Given the description of an element on the screen output the (x, y) to click on. 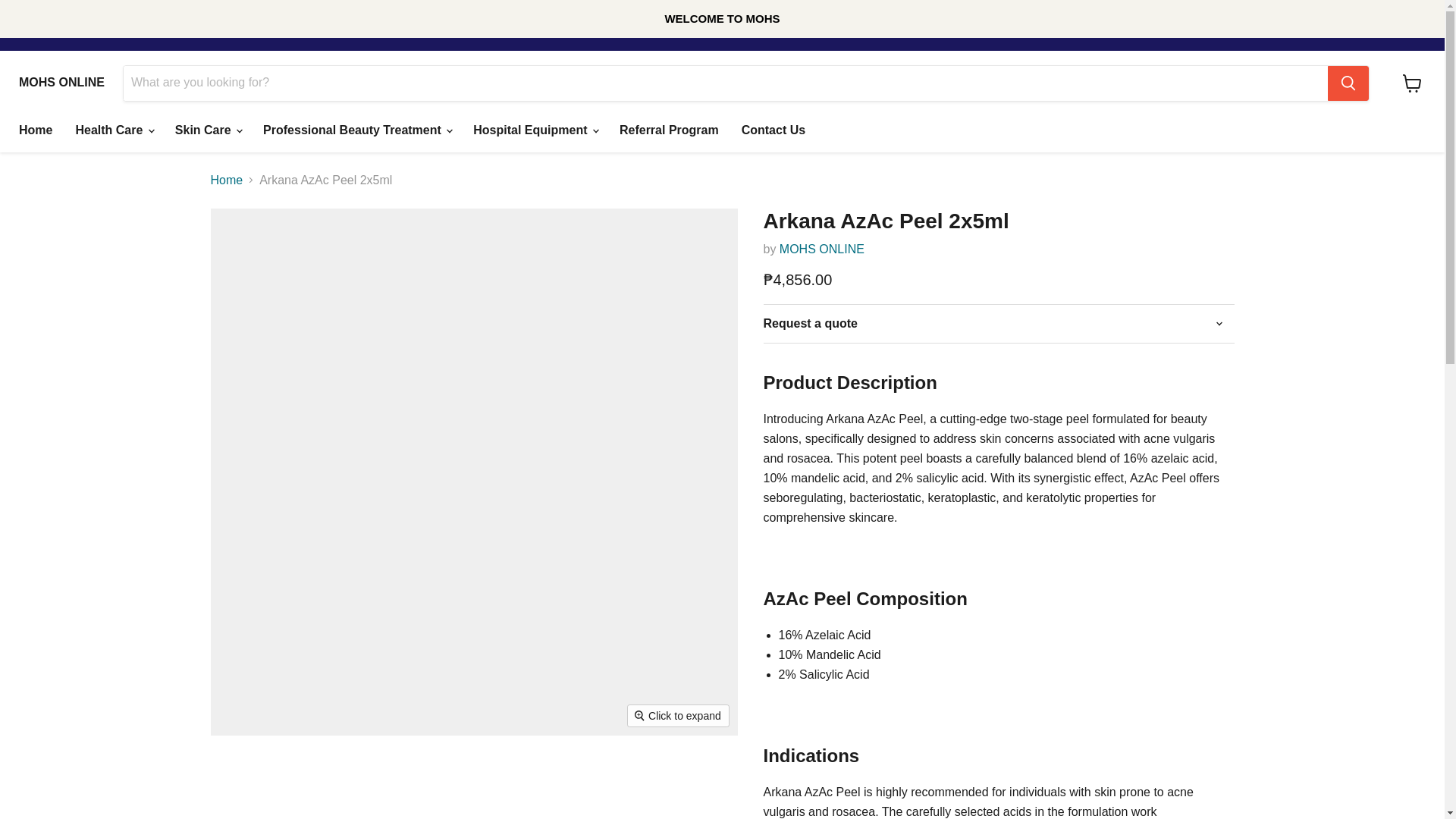
MOHS ONLINE (821, 248)
View cart (1411, 82)
MOHS ONLINE (61, 82)
Referral Program (669, 129)
Contact Us (773, 129)
Home (35, 129)
